Given the description of an element on the screen output the (x, y) to click on. 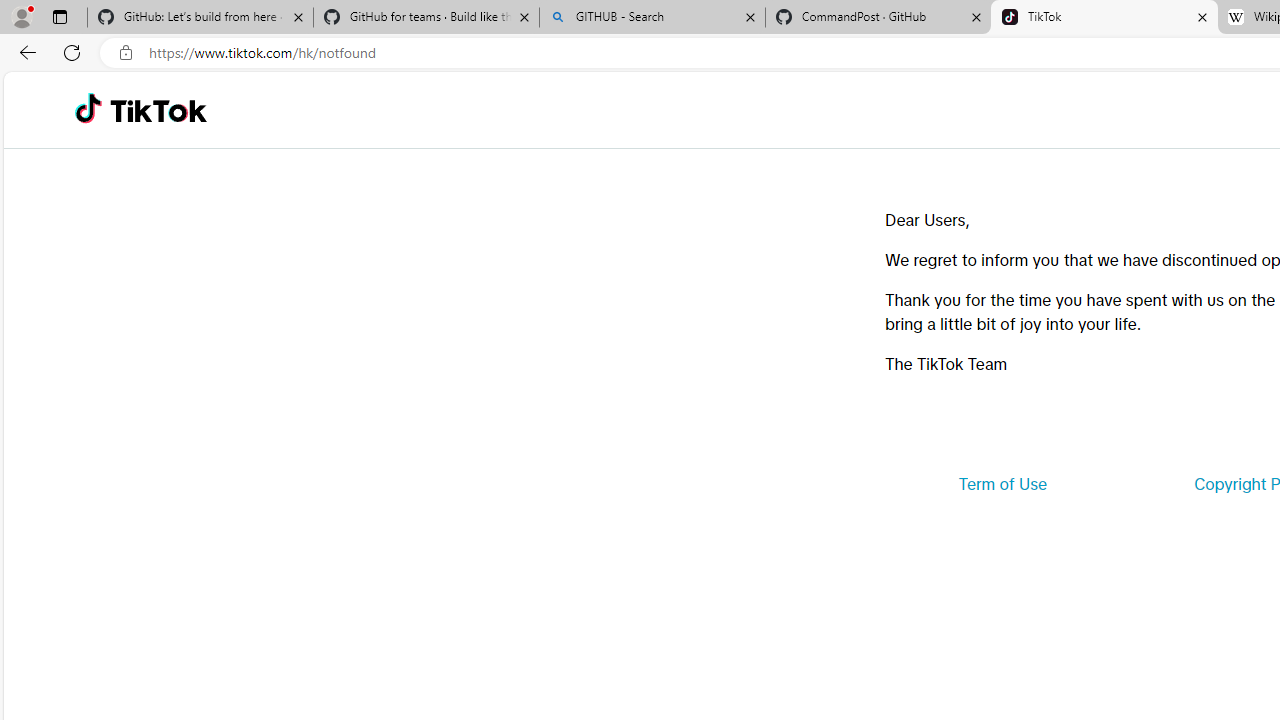
Term of Use (1002, 484)
GITHUB - Search (652, 17)
